Given the description of an element on the screen output the (x, y) to click on. 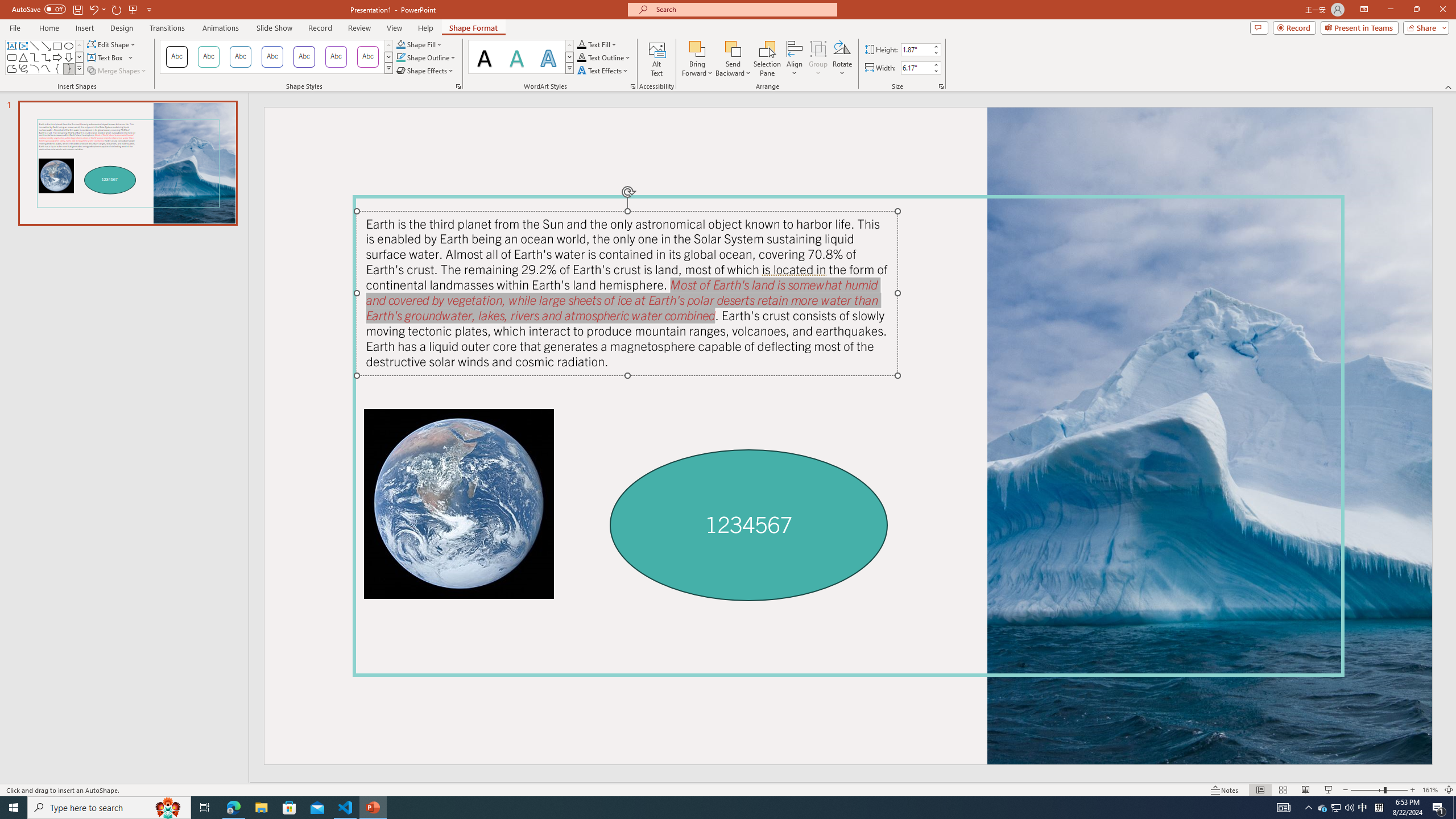
Text Box (110, 56)
Record (1294, 27)
Left Brace (57, 68)
Shape Fill Aqua, Accent 2 (400, 44)
Zoom to Fit  (1449, 790)
AutomationID: TextStylesGallery (521, 56)
Slide Show (1328, 790)
AutomationID: ShapeStylesGallery (276, 56)
Normal (1260, 790)
Reading View (1305, 790)
Freeform: Shape (11, 68)
Help (425, 28)
Colored Outline - Pink, Accent 6 (368, 56)
Record (320, 28)
Collapse the Ribbon (1448, 86)
